Given the description of an element on the screen output the (x, y) to click on. 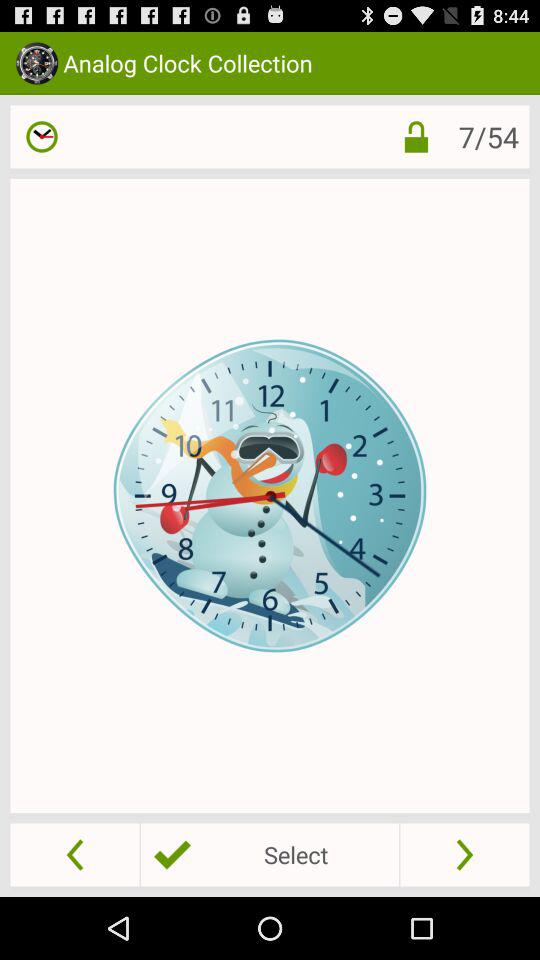
go to previous (74, 854)
